Given the description of an element on the screen output the (x, y) to click on. 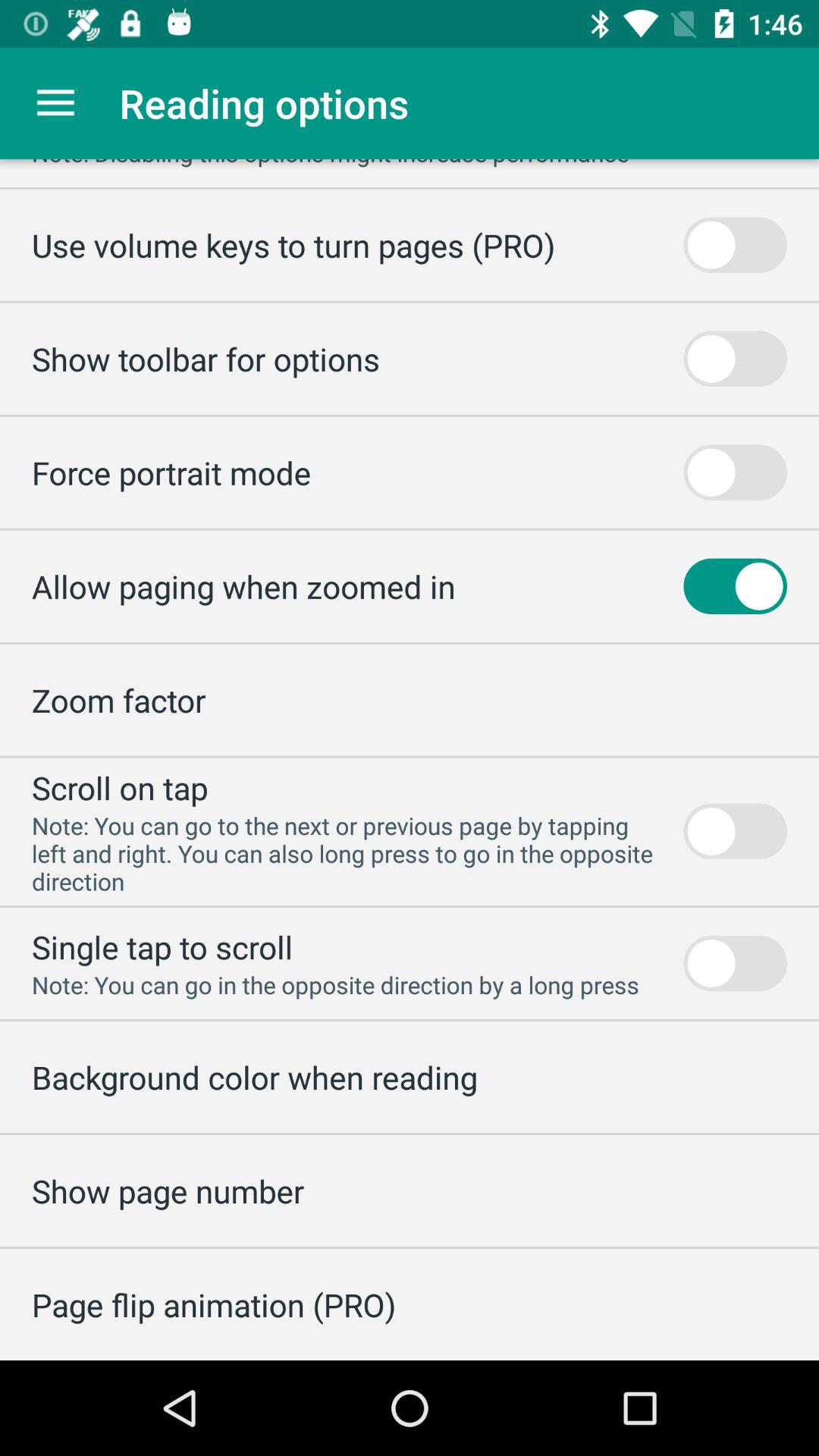
open the background color when item (254, 1076)
